Given the description of an element on the screen output the (x, y) to click on. 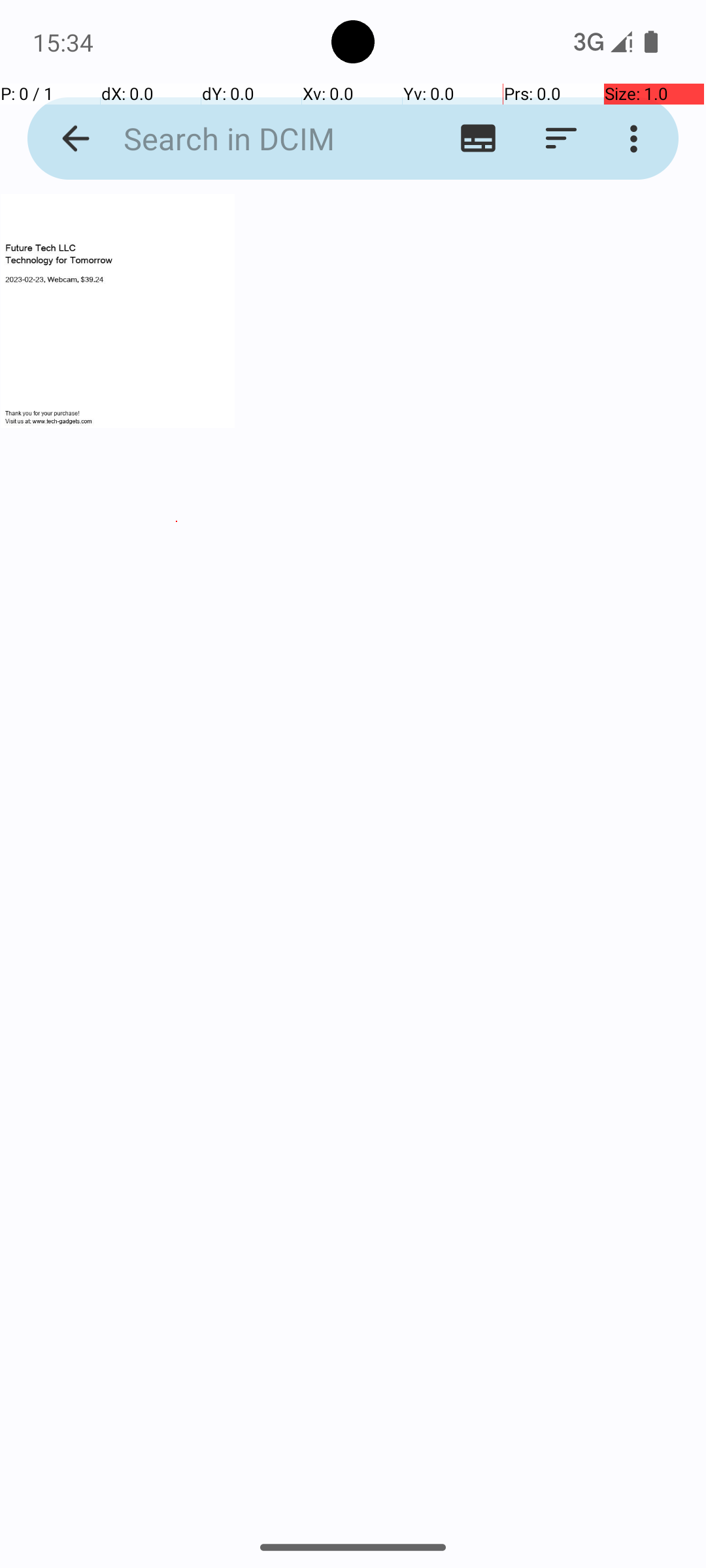
Search in DCIM Element type: android.widget.EditText (252, 138)
